Given the description of an element on the screen output the (x, y) to click on. 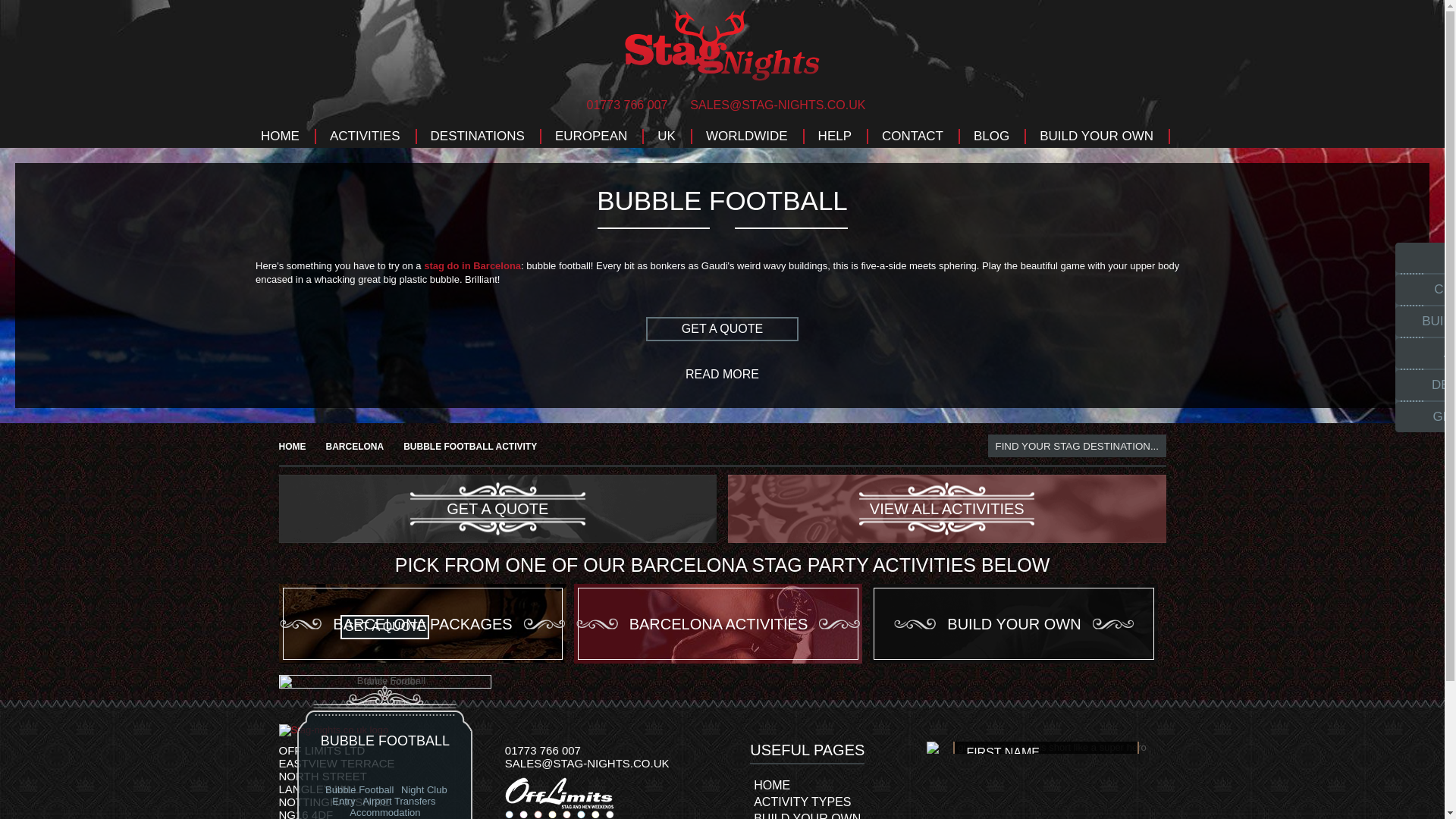
01773 766 007 (623, 104)
EUROPEAN (591, 136)
Barcelona Packages (423, 623)
Barcelona Activities (717, 623)
HOME (280, 136)
DESTINATIONS (477, 136)
ACTIVITIES (364, 136)
